Given the description of an element on the screen output the (x, y) to click on. 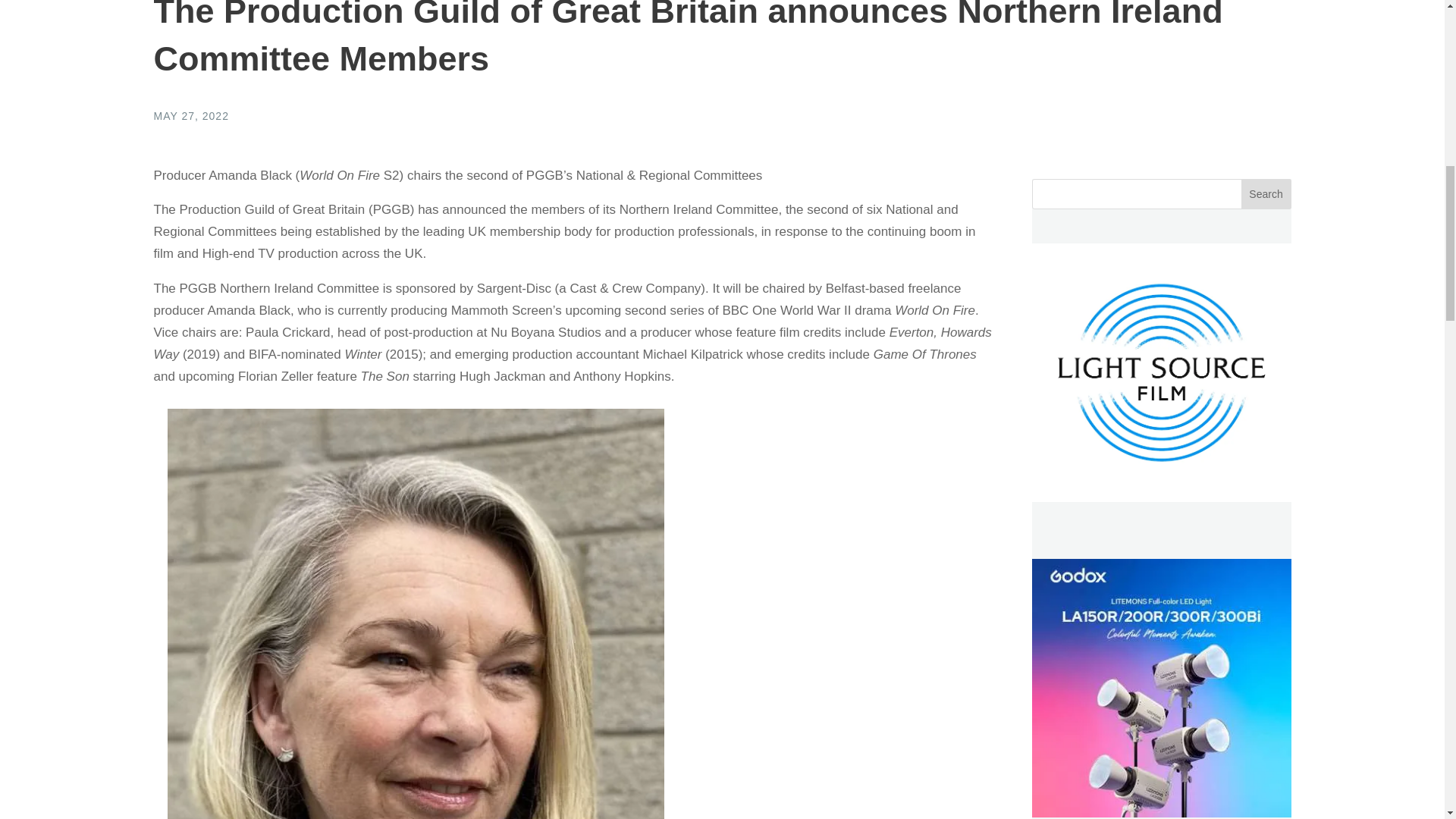
Search (1266, 194)
